Given the description of an element on the screen output the (x, y) to click on. 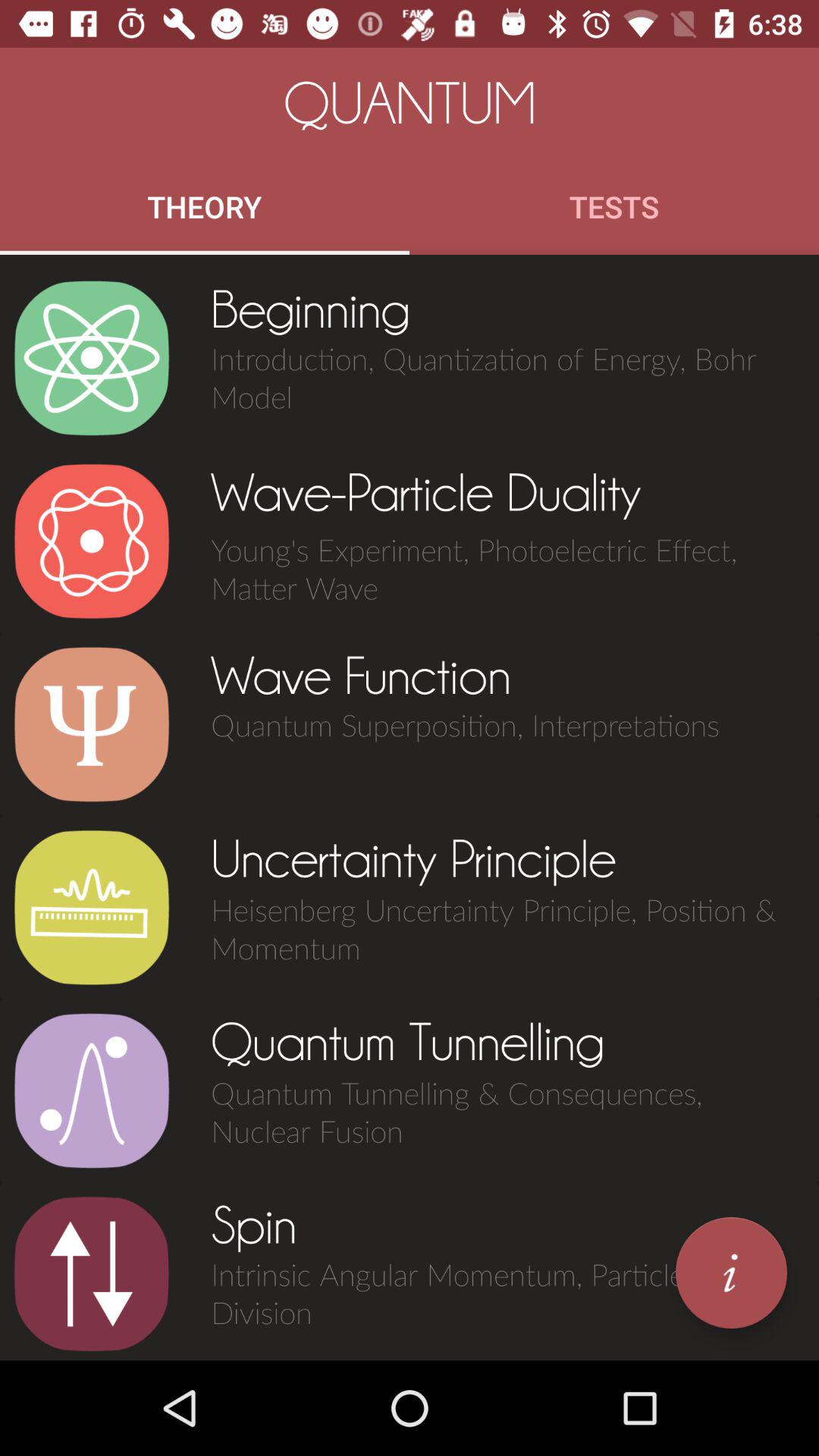
select icon below the quantum tunnelling consequences item (731, 1272)
